Given the description of an element on the screen output the (x, y) to click on. 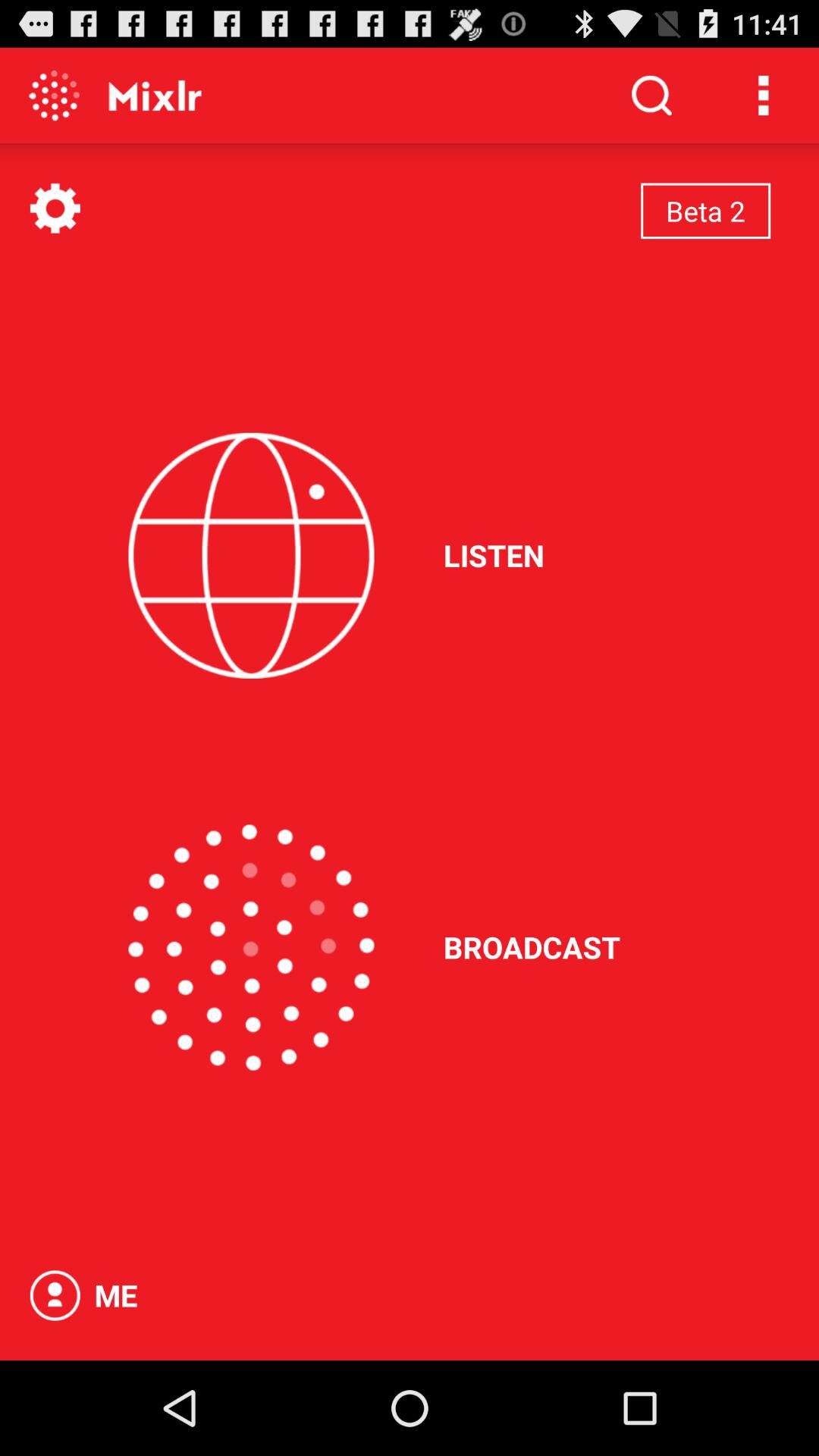
go to icon left to text listen at the center (251, 555)
